Given the description of an element on the screen output the (x, y) to click on. 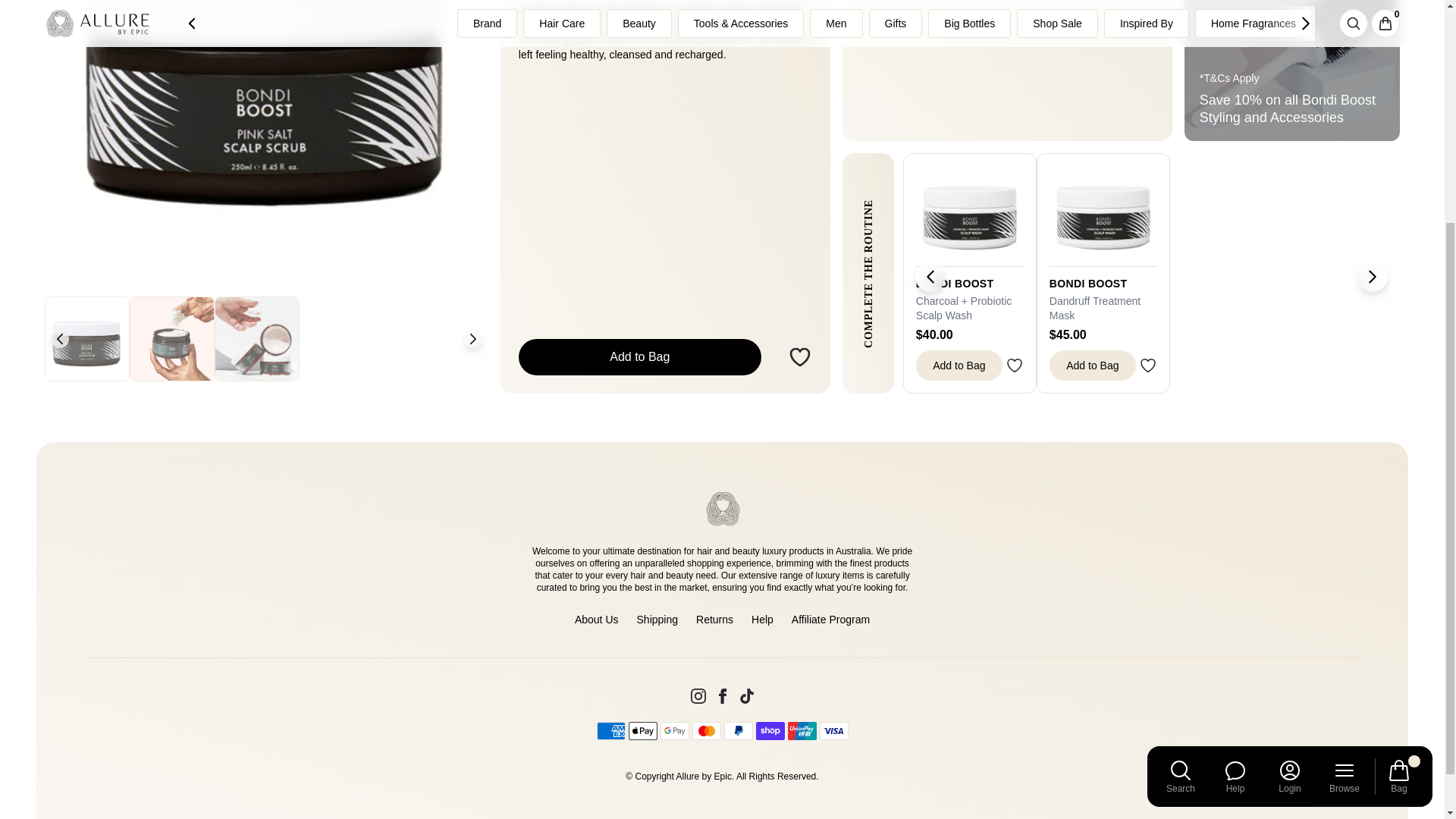
Allure by Epic TikTok (746, 695)
Allure by Epic Instagram (697, 695)
Help Page (762, 619)
Write a review (1007, 70)
Affiliate Program Page (830, 619)
About Us Page (596, 619)
Returns Page (714, 619)
Shipping Page (657, 619)
Allure by Epic Facebook (721, 695)
